Given the description of an element on the screen output the (x, y) to click on. 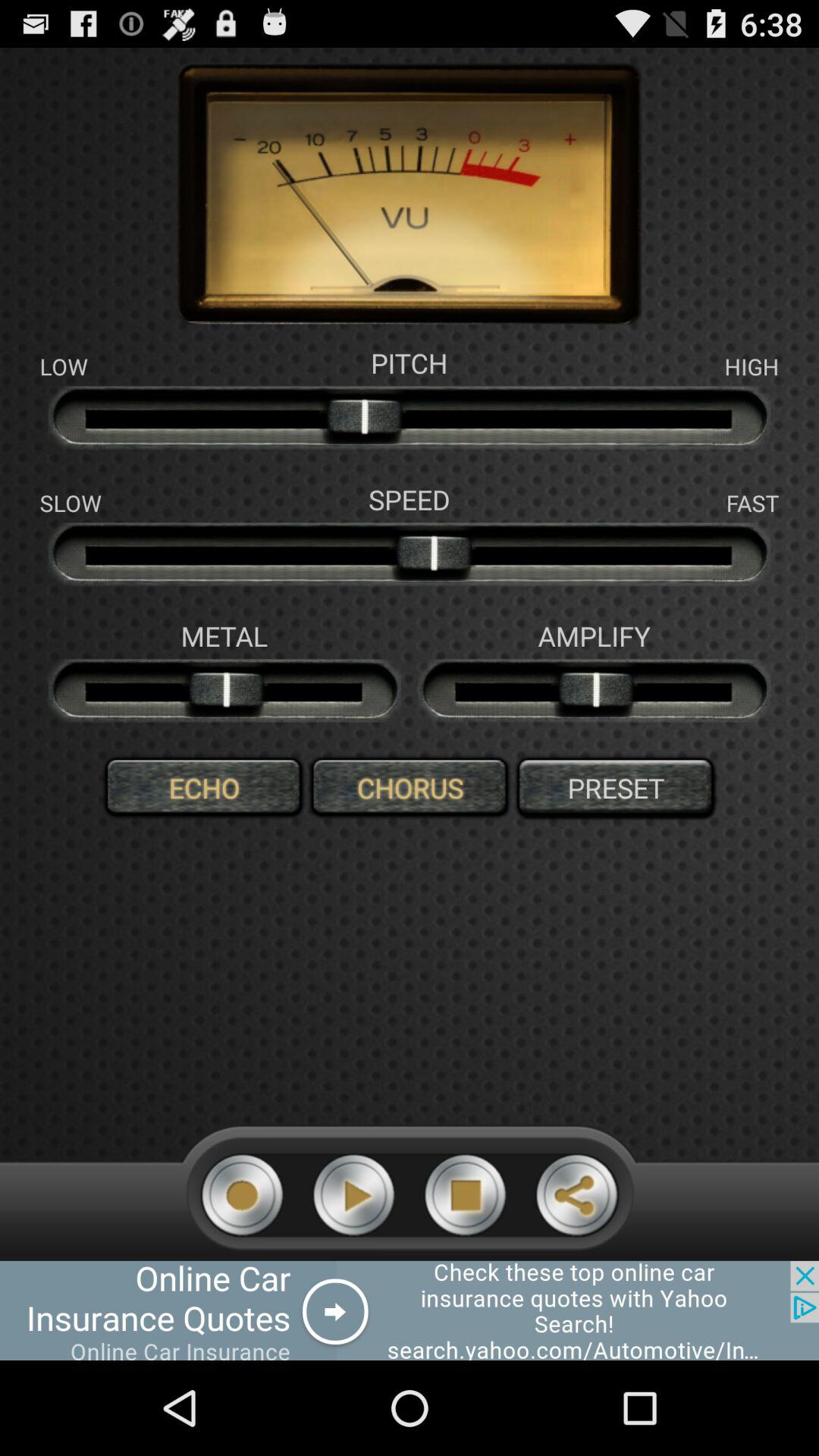
start recording (242, 1195)
